Given the description of an element on the screen output the (x, y) to click on. 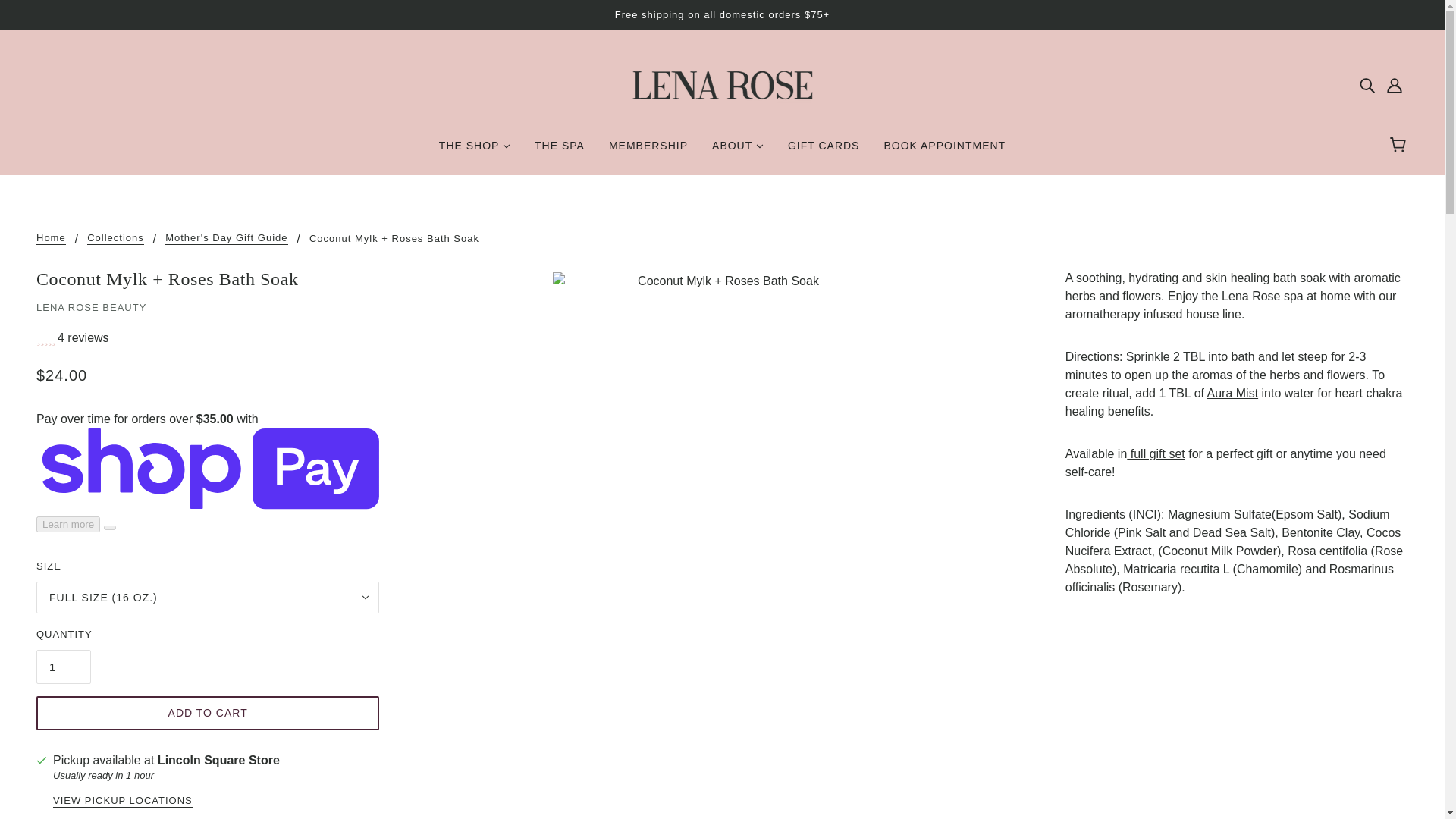
1 (63, 666)
THE SHOP (474, 151)
Lena Rose Beauty (722, 83)
